Given the description of an element on the screen output the (x, y) to click on. 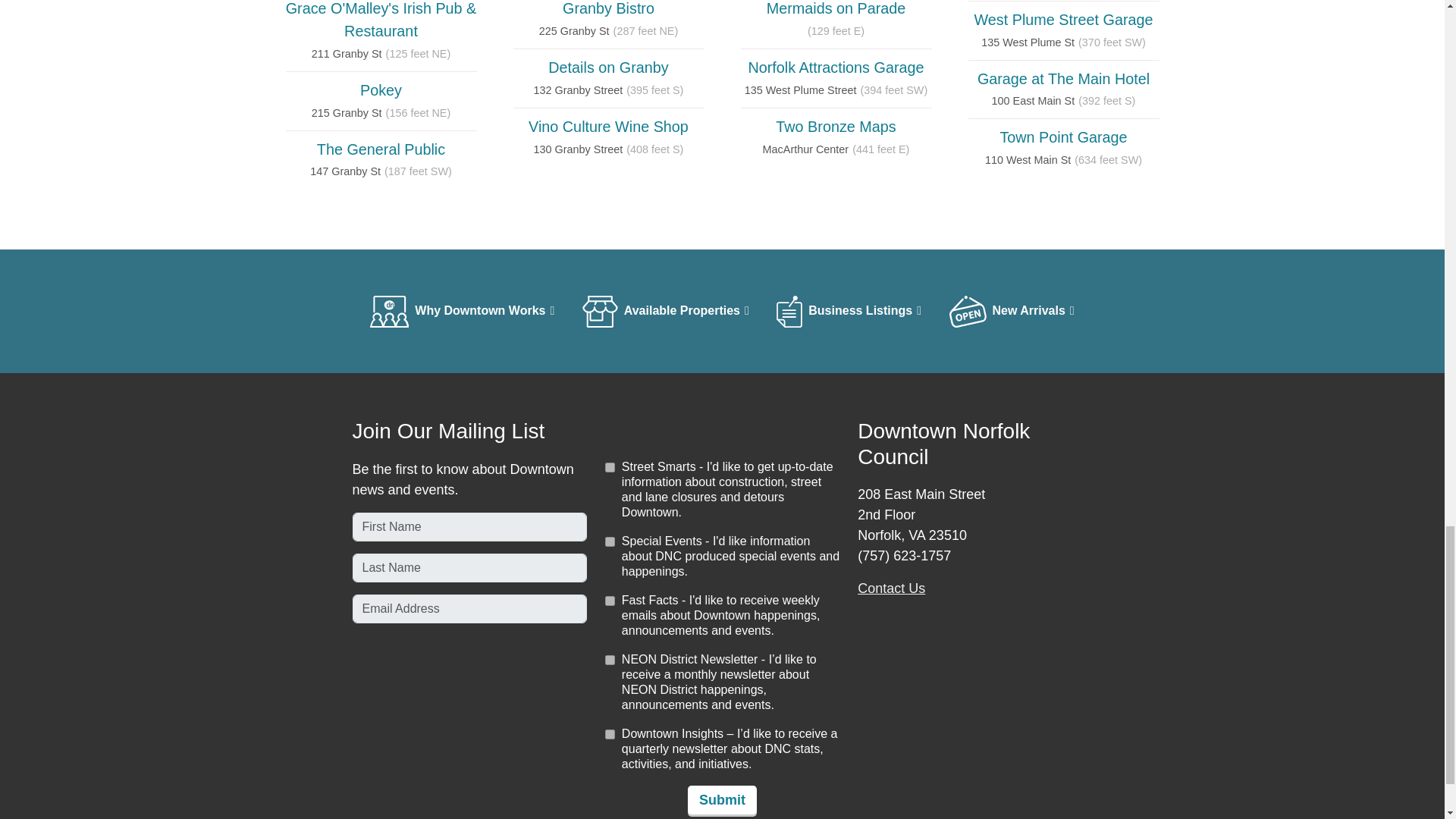
1 (609, 734)
Submit (722, 799)
1 (609, 660)
1 (609, 542)
1 (609, 467)
1 (609, 601)
